Given the description of an element on the screen output the (x, y) to click on. 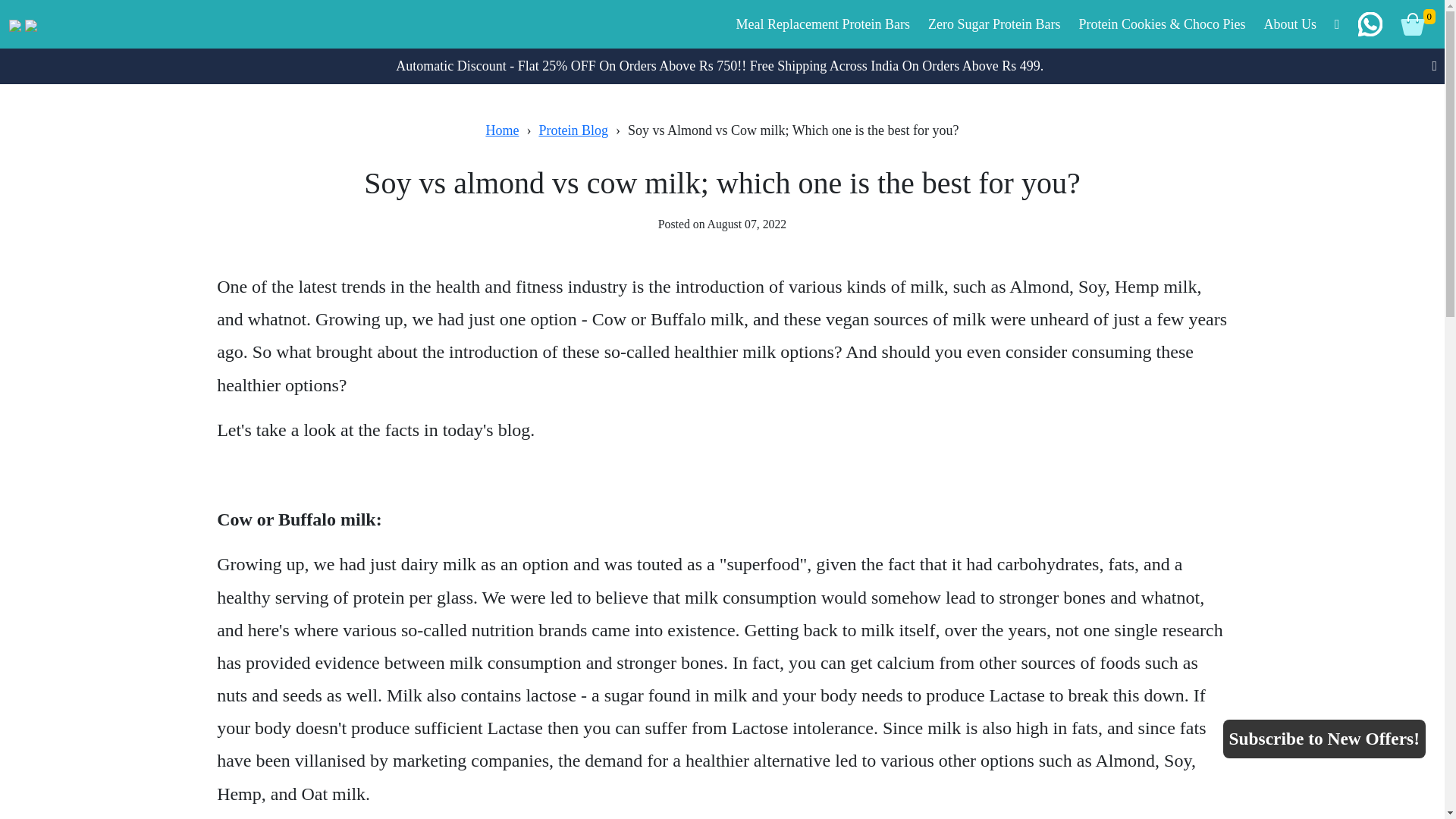
Back to the frontpage (501, 130)
Meal Replacement Protein Bars (822, 23)
Protein Blog (573, 130)
0 (1414, 23)
Zero Sugar Protein Bars (993, 23)
Home (501, 130)
About Us (1289, 23)
